Given the description of an element on the screen output the (x, y) to click on. 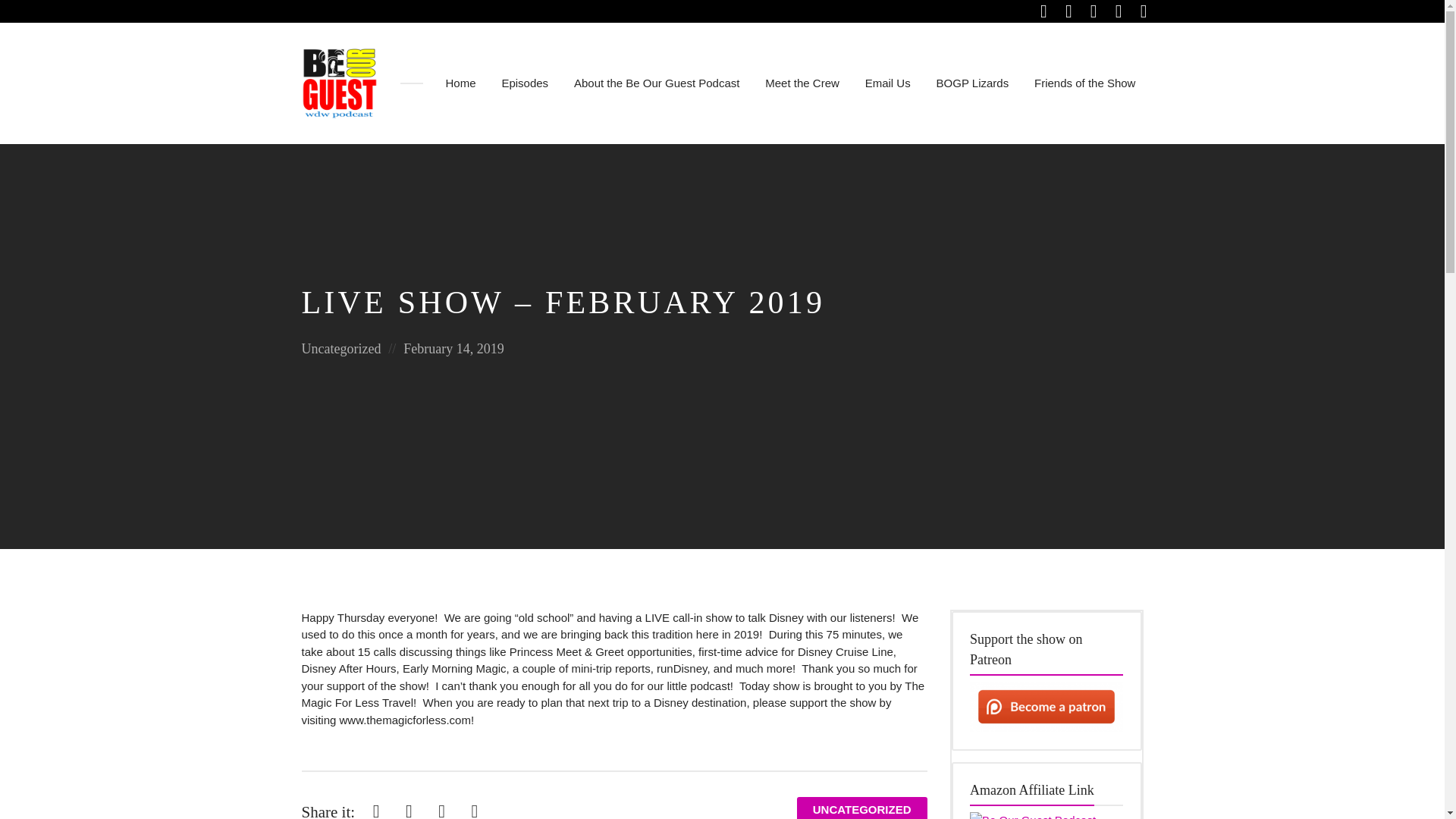
Share via Twitter (408, 806)
Share via Facebook (376, 806)
Uncategorized (341, 348)
Share via Pinterest (441, 806)
February 14, 2019 (453, 348)
Meet the Crew (802, 83)
iTunes (1118, 11)
Friends of the Show (1084, 83)
YouTube (1143, 11)
Facebook (376, 806)
Home (460, 83)
Instagram (1069, 11)
Email Us (887, 83)
Twitter (408, 806)
BOGP Lizards (972, 83)
